Given the description of an element on the screen output the (x, y) to click on. 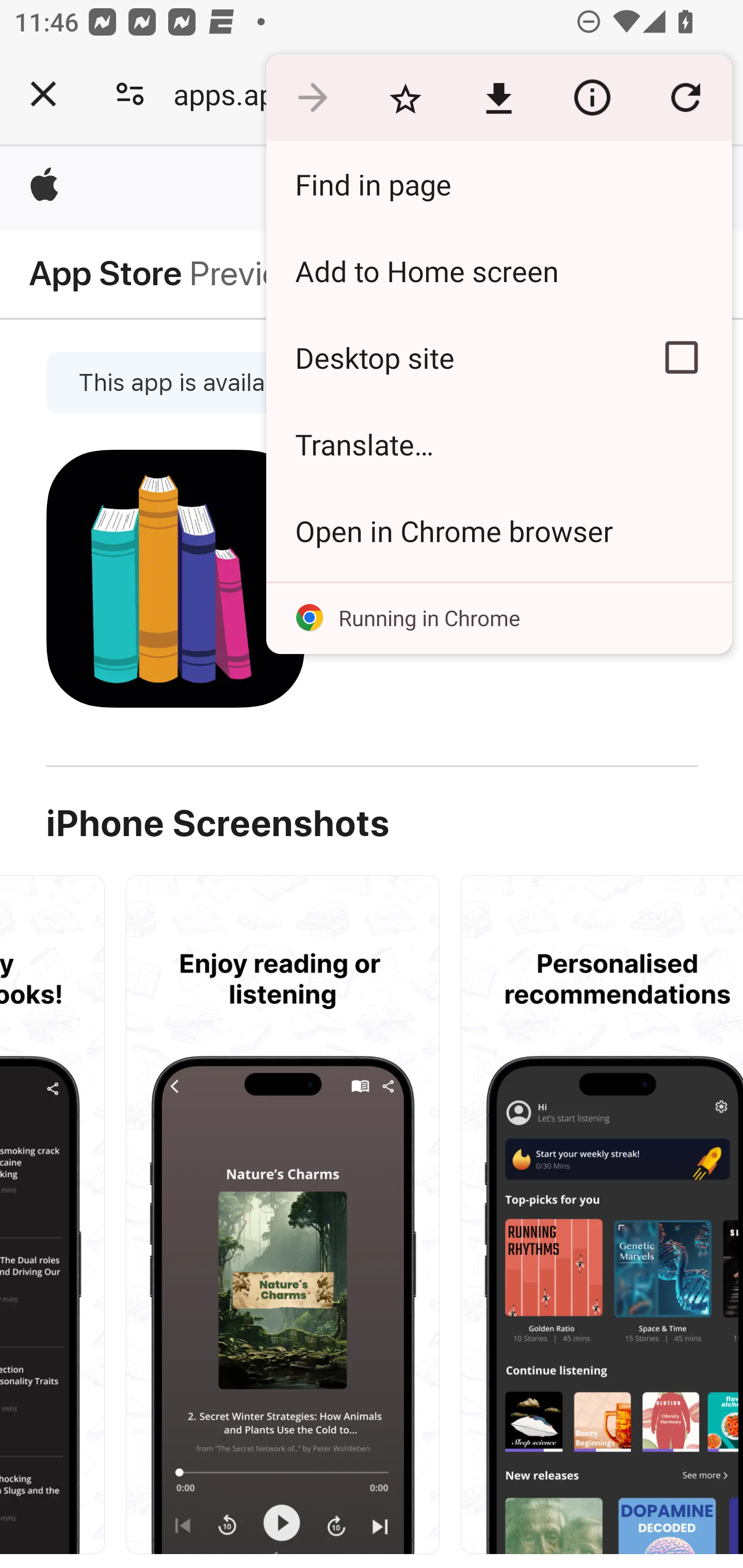
Go forward (311, 97)
Bookmark (404, 97)
Download this page (498, 97)
View site information (591, 97)
Refresh (684, 97)
Find in page (498, 184)
Add to Home screen (498, 270)
Desktop site Turn on Request desktop site (447, 357)
Translate… (498, 444)
Open in Chrome browser (498, 530)
